Given the description of an element on the screen output the (x, y) to click on. 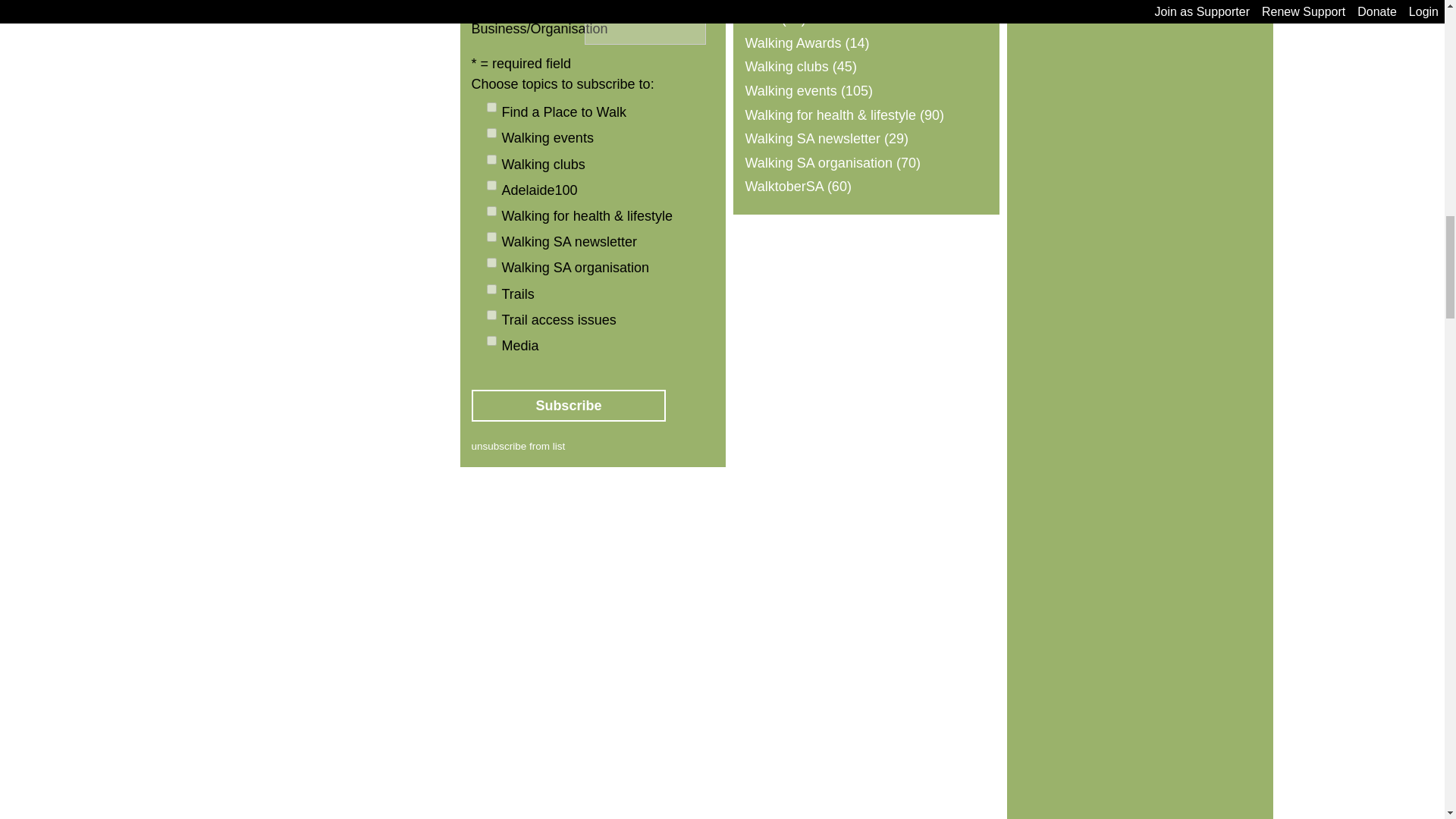
Subscribe (568, 405)
Find a Place to Walk (491, 107)
Walking SA newsletter (491, 236)
Media (491, 340)
Walking SA organisation (491, 262)
Trails (491, 289)
Walking events (491, 132)
Adelaide100 (491, 185)
Walking clubs (491, 159)
Trail access issues (491, 315)
